Given the description of an element on the screen output the (x, y) to click on. 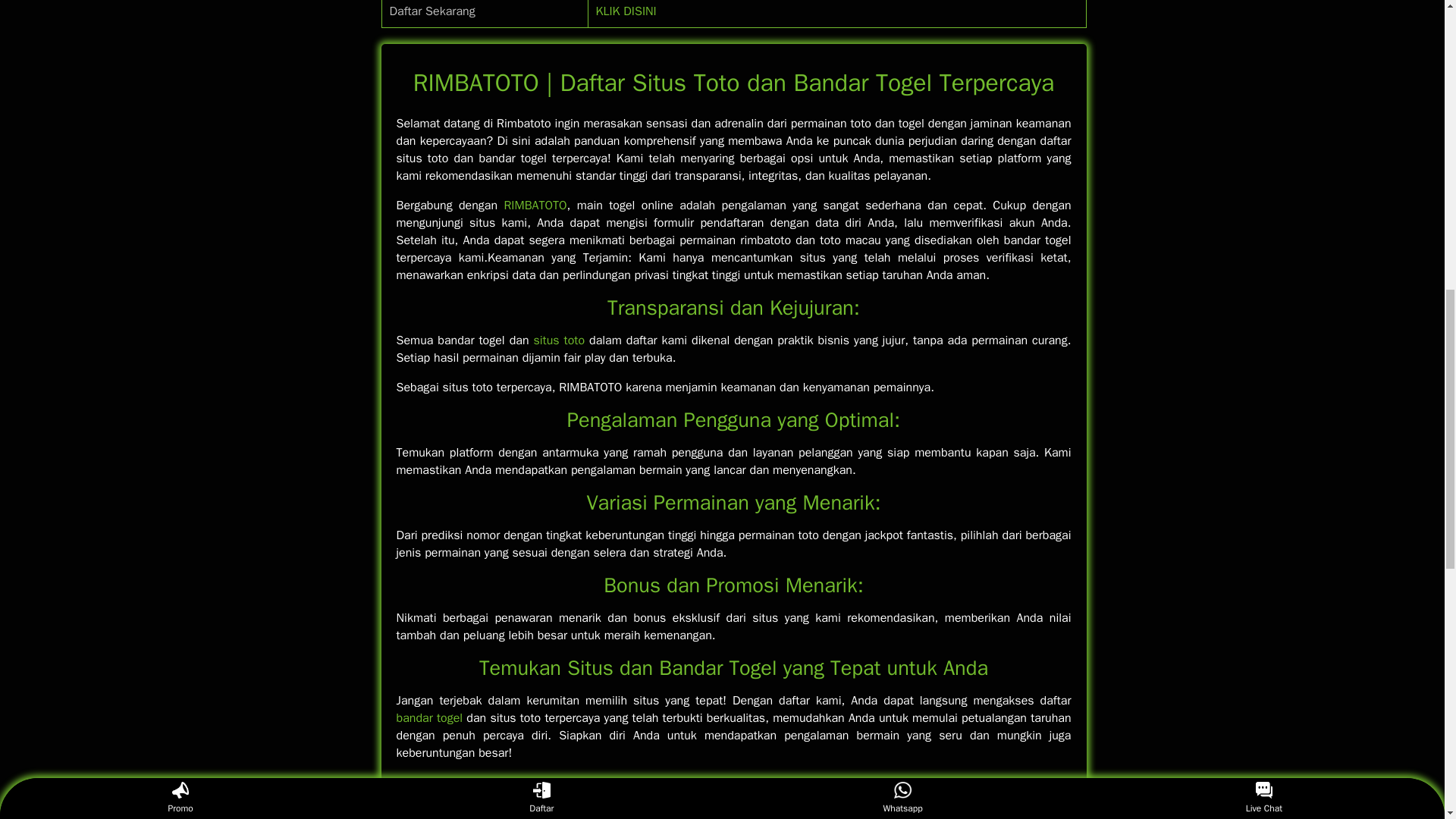
bandar togel (429, 717)
situs toto (558, 340)
RIMBATOTO (534, 205)
bandar togel (429, 717)
situs toto (558, 340)
RIMBATOTO (534, 205)
KLIK DISINI (625, 11)
